Given the description of an element on the screen output the (x, y) to click on. 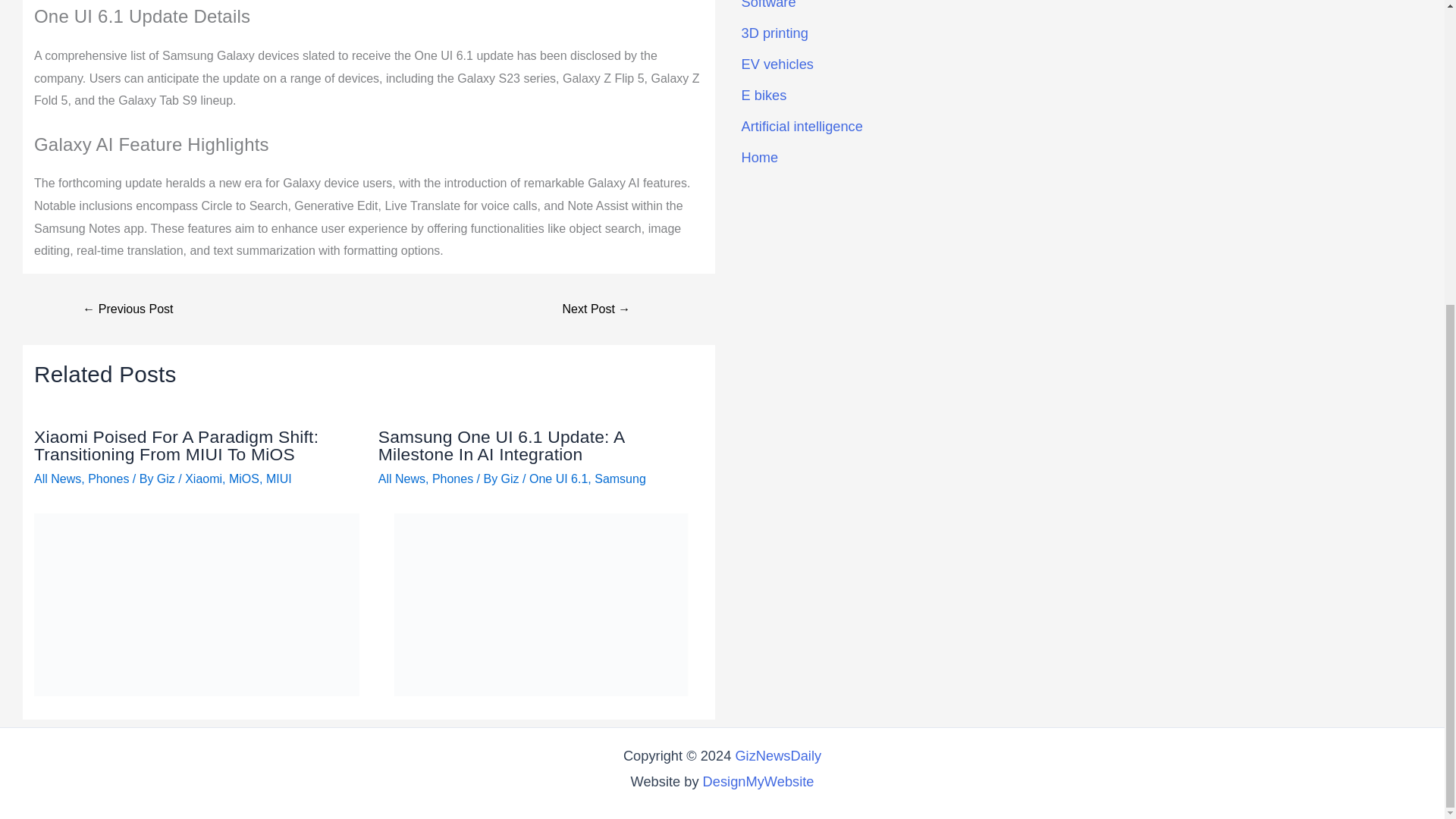
View all posts by Giz (167, 478)
Vivo V30e Snapdragon 6 Gen 1 Geekbench Performance (595, 309)
Samsung Galaxy Tab S9 Receives Significant US Discount (127, 309)
View all posts by Giz (511, 478)
